Given the description of an element on the screen output the (x, y) to click on. 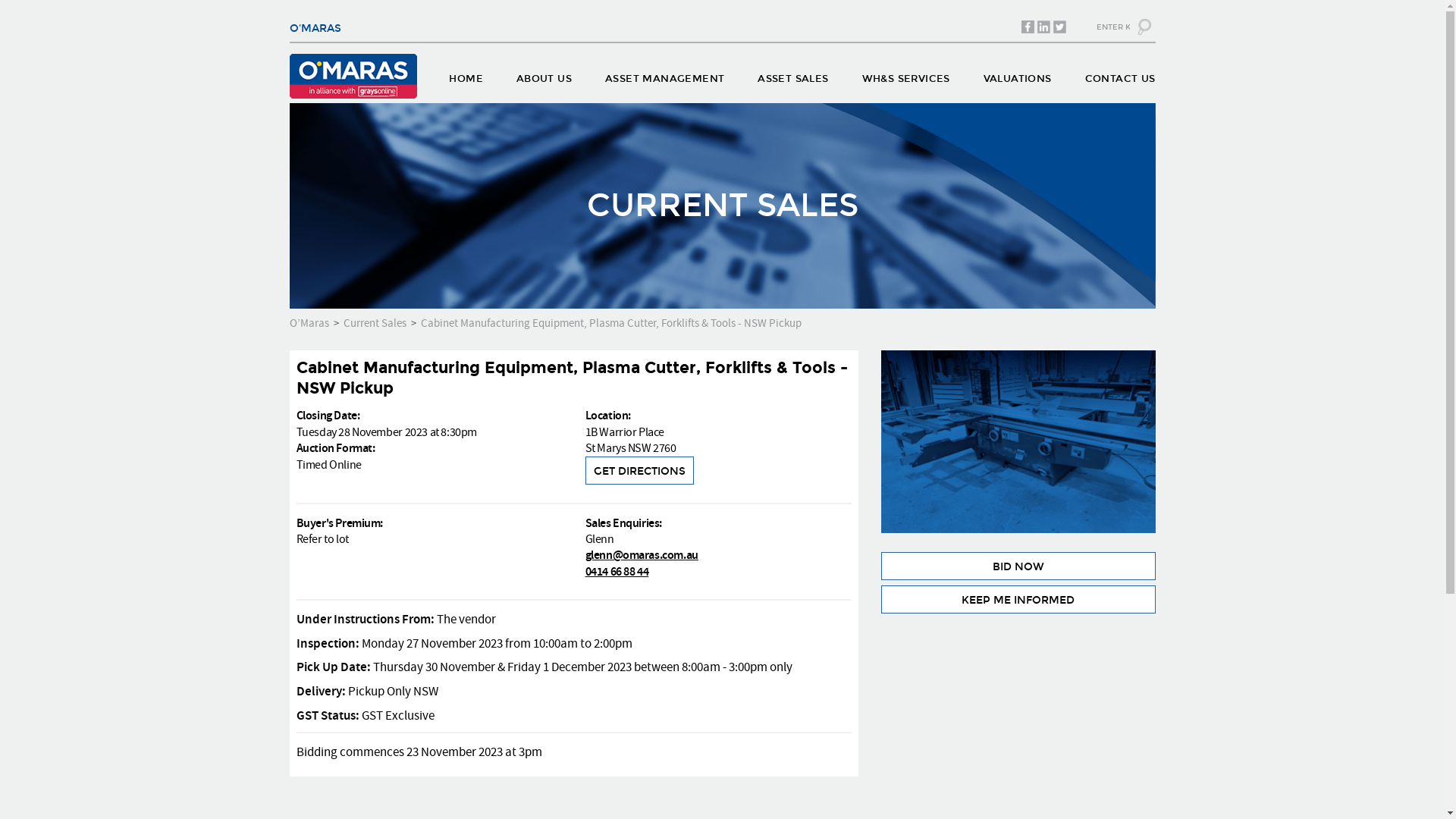
KEEP ME INFORMED Element type: text (1018, 599)
ABOUT US Element type: text (543, 81)
VALUATIONS Element type: text (1017, 81)
0414 66 88 44 Element type: text (617, 572)
BID NOW Element type: text (1018, 566)
GET DIRECTIONS Element type: text (639, 470)
glenn@omaras.com.au Element type: text (641, 555)
HOME Element type: text (465, 81)
ASSET SALES Element type: text (792, 81)
WH&S SERVICES Element type: text (906, 81)
ASSET MANAGEMENT Element type: text (664, 81)
CONTACT US Element type: text (1120, 81)
Current Sales Element type: text (373, 323)
